Given the description of an element on the screen output the (x, y) to click on. 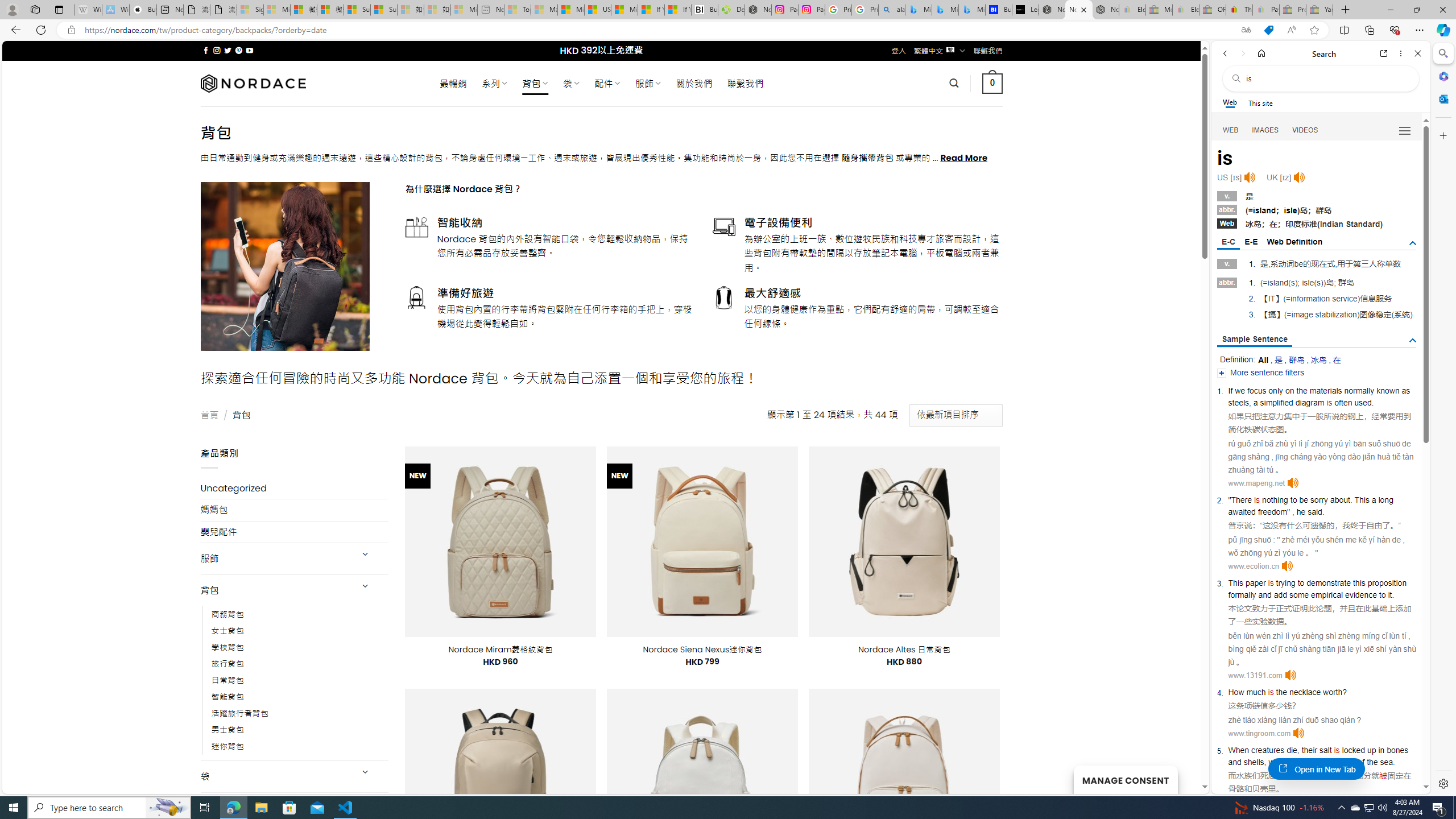
E-C (1228, 242)
long (1385, 499)
" (1288, 511)
worth (1332, 691)
